Given the description of an element on the screen output the (x, y) to click on. 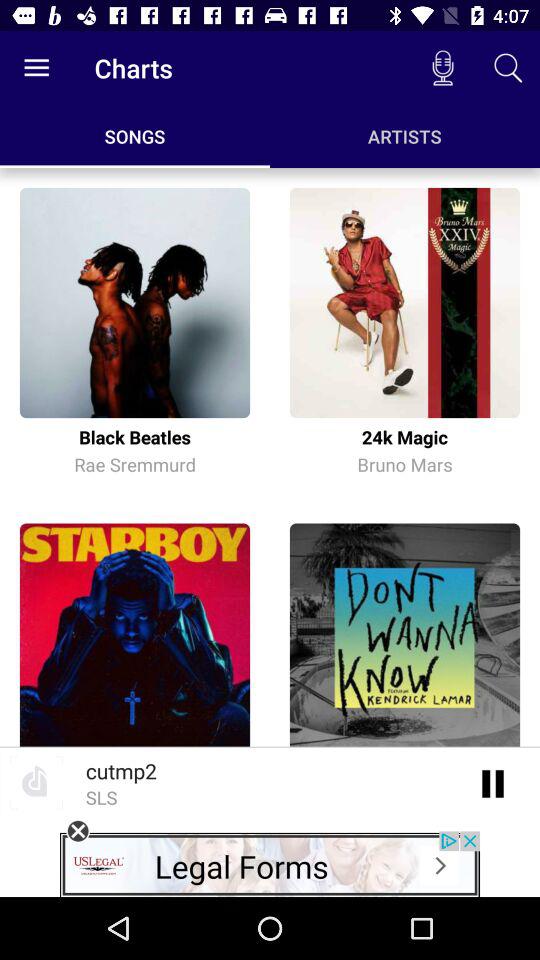
legal forms (270, 864)
